Given the description of an element on the screen output the (x, y) to click on. 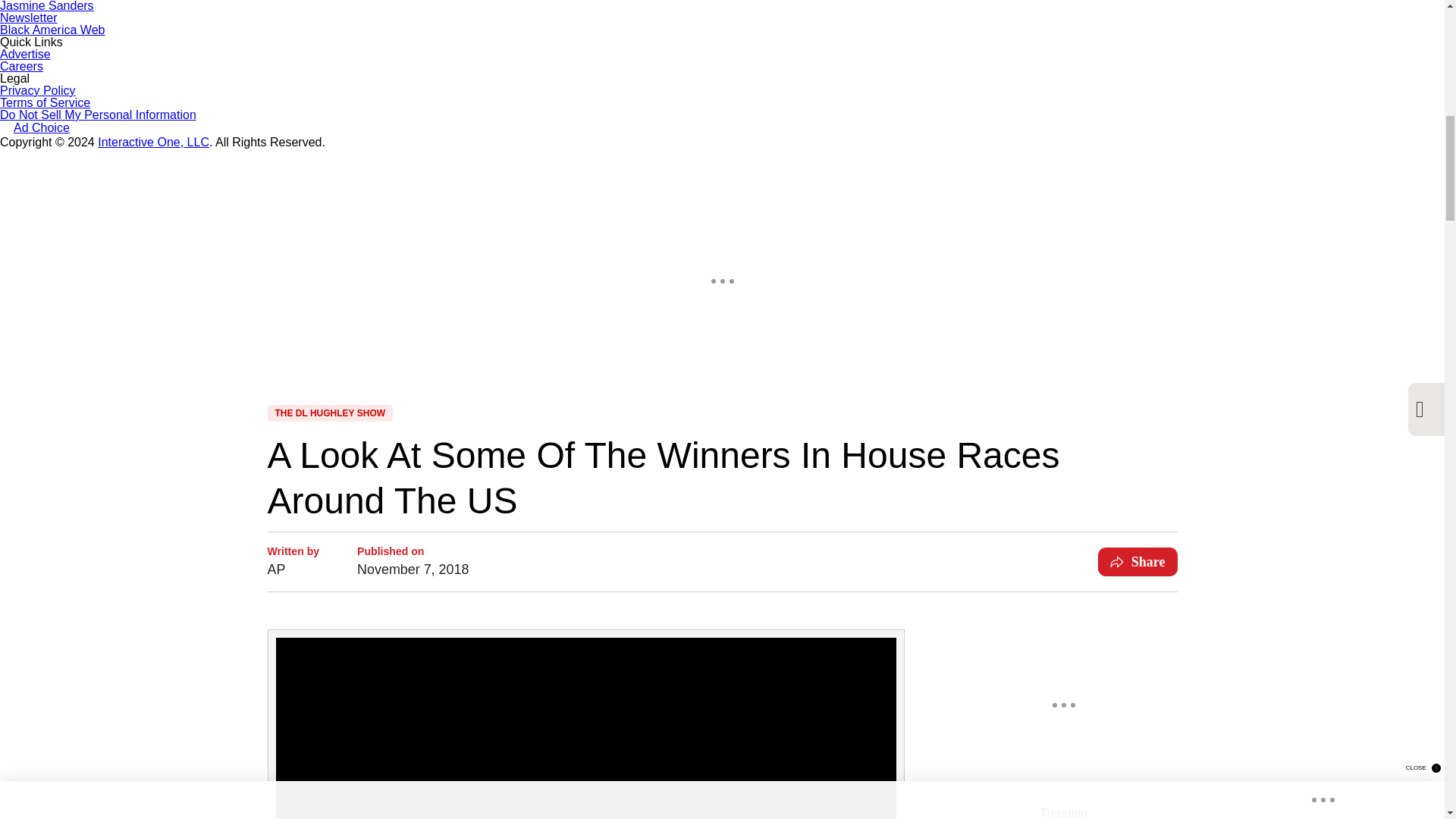
Do Not Sell My Personal Information (98, 114)
Jasmine Sanders (47, 6)
Terms of Service (45, 102)
AP (292, 568)
Ad Choice (34, 128)
Black America Web (52, 29)
Newsletter (29, 17)
Advertise (25, 53)
Careers (21, 65)
THE DL HUGHLEY SHOW (329, 412)
